Given the description of an element on the screen output the (x, y) to click on. 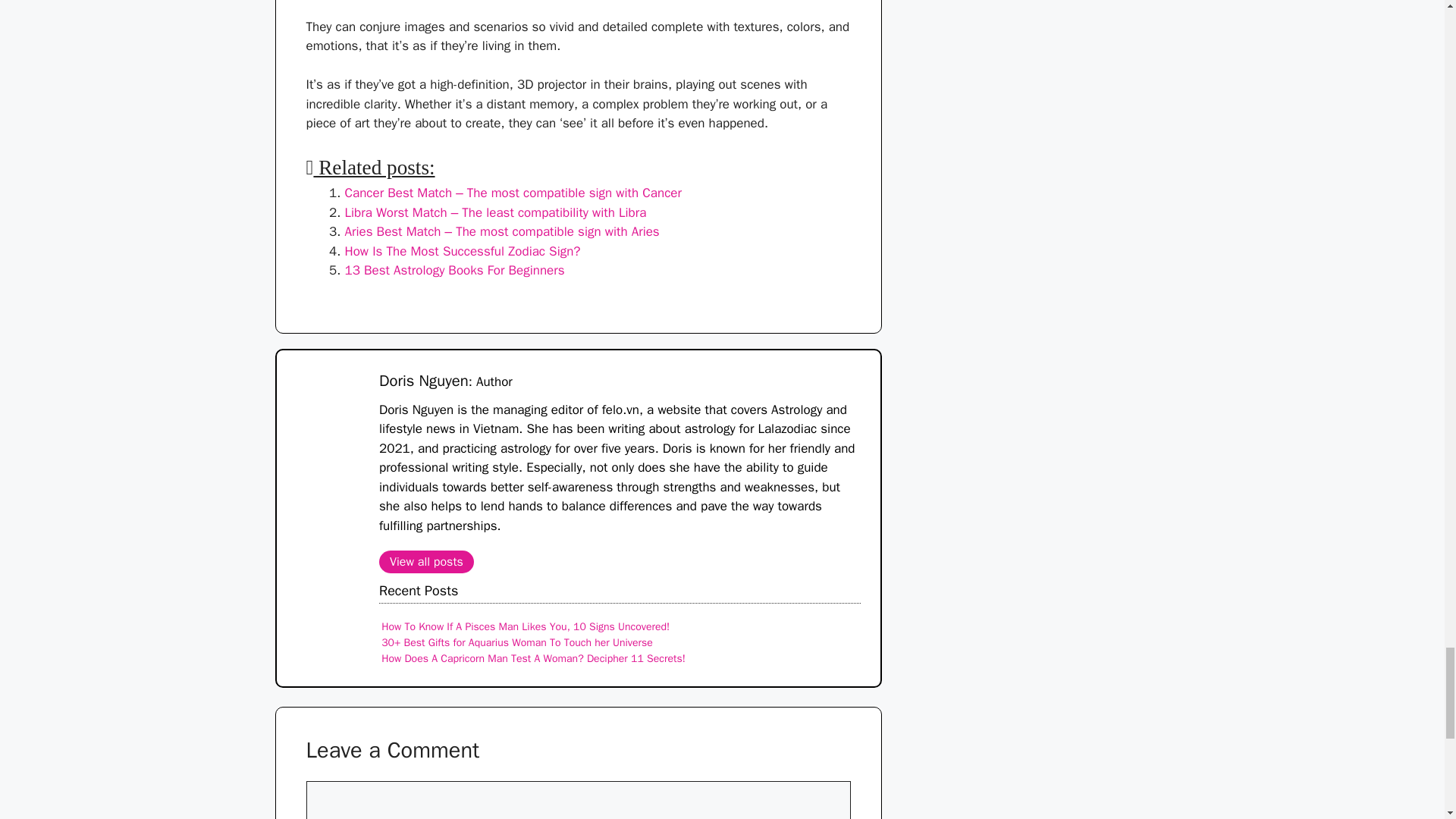
How To Know If A Pisces Man Likes You, 10 Signs Uncovered! (525, 626)
View all posts (426, 561)
How Is The Most Successful Zodiac Sign? (461, 251)
13 Best Astrology Books For Beginners (453, 270)
Doris Nguyen (423, 380)
How Does A Capricorn Man Test A Woman? Decipher 11 Secrets! (533, 658)
